Given the description of an element on the screen output the (x, y) to click on. 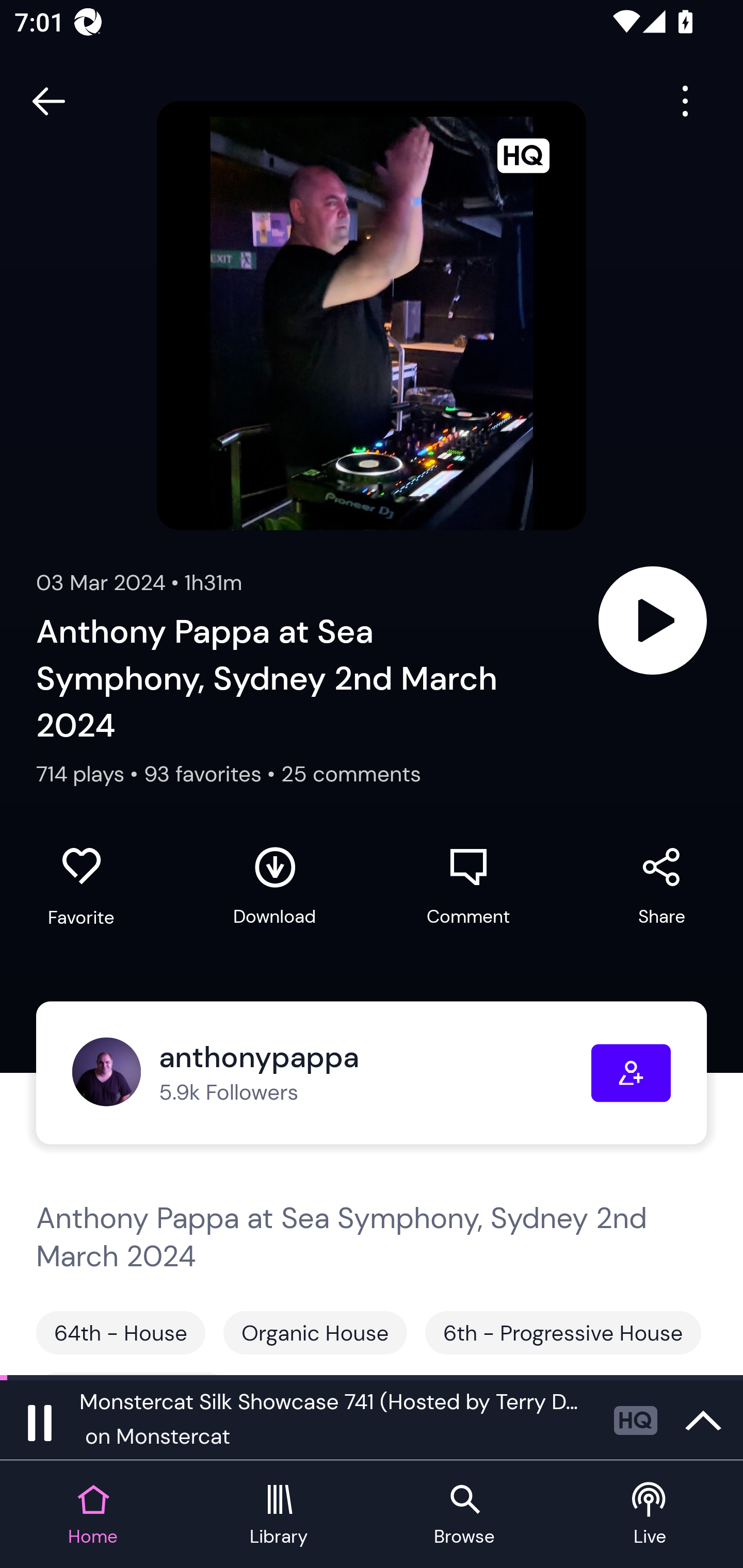
93 favorites •  (212, 773)
25 comments (350, 773)
Favorite (81, 886)
Download (274, 886)
Comment (467, 886)
Share (661, 886)
Follow (630, 1073)
64th - House (120, 1332)
Organic House (315, 1332)
6th - Progressive House (562, 1332)
Home tab Home (92, 1515)
Library tab Library (278, 1515)
Browse tab Browse (464, 1515)
Live tab Live (650, 1515)
